Given the description of an element on the screen output the (x, y) to click on. 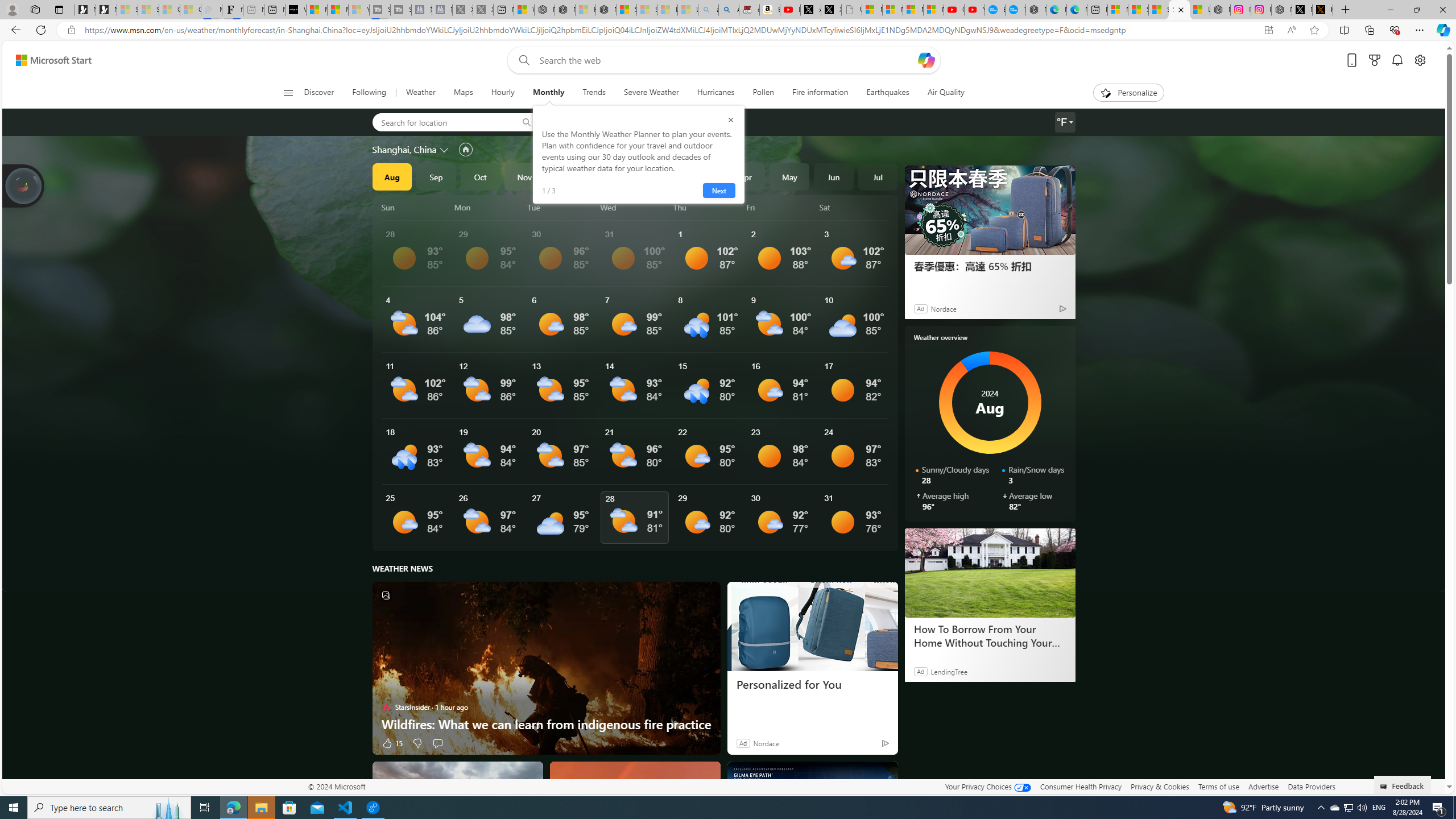
Tue (561, 207)
Jun (833, 176)
Nov (523, 176)
Air Quality (945, 92)
Newsletter Sign Up (106, 9)
Personalize (1128, 92)
